Given the description of an element on the screen output the (x, y) to click on. 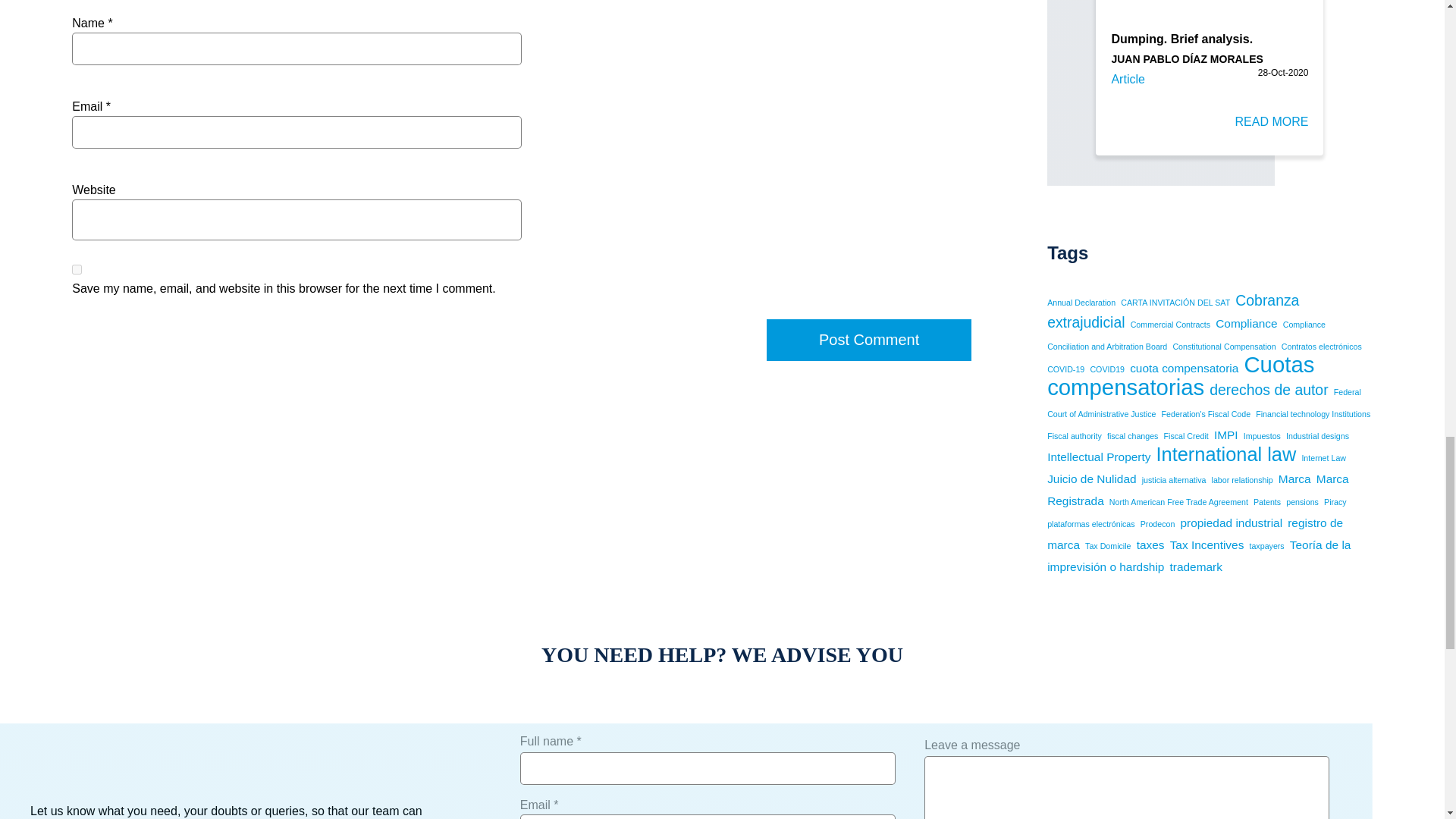
Post Comment (869, 340)
READ MORE (1271, 126)
yes (76, 269)
Annual Declaration (1080, 302)
Post Comment (869, 340)
Article (1127, 78)
